Given the description of an element on the screen output the (x, y) to click on. 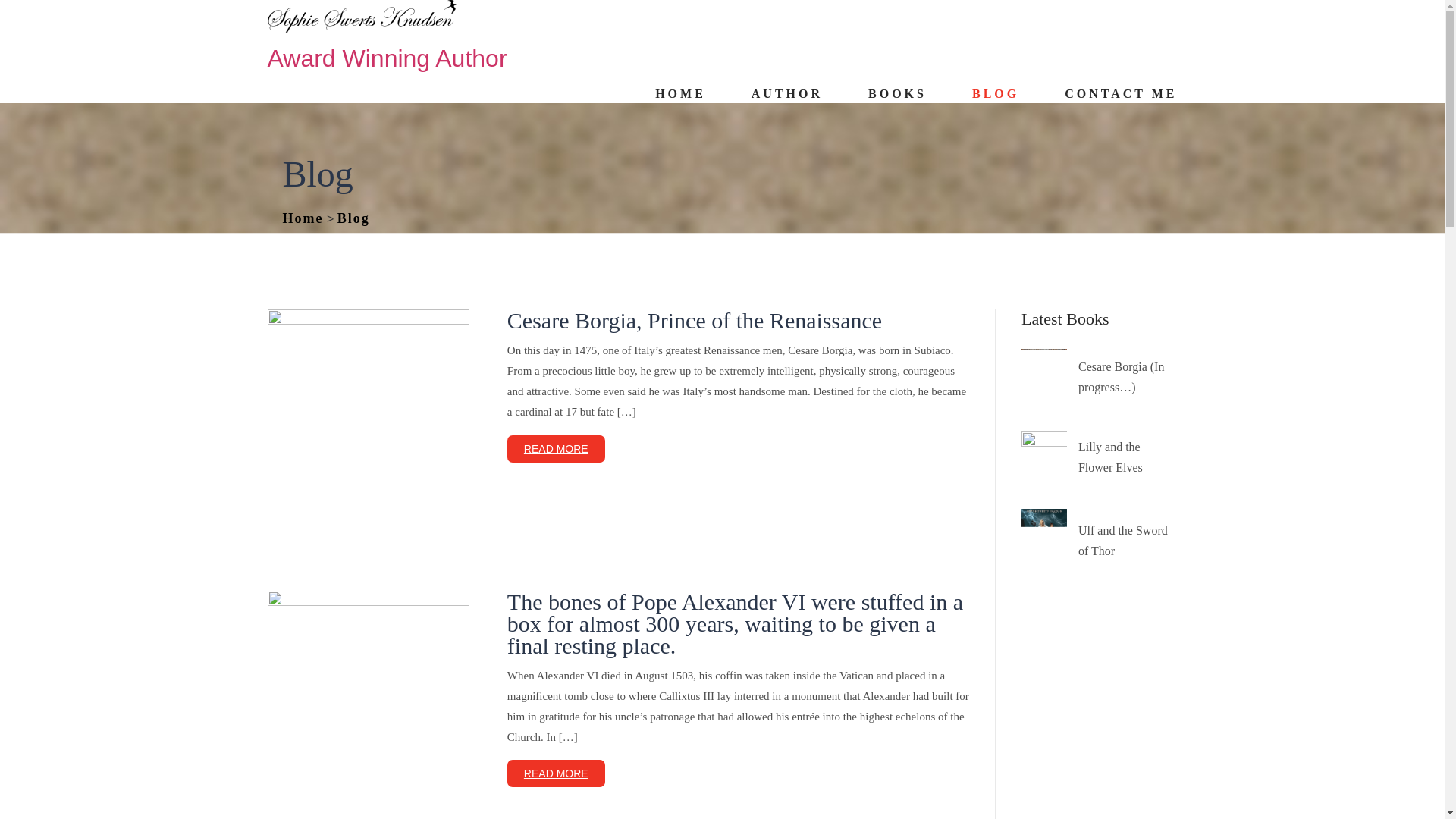
BLOG (995, 92)
READ MORE (555, 773)
CONTACT ME (1120, 92)
Cesare Borgia, Prince of the Renaissance (694, 319)
Go to Sophie Swerts Knudsen. (302, 218)
Award Winning Author (386, 58)
BOOKS (896, 92)
Home (302, 218)
READ MORE (555, 448)
